Given the description of an element on the screen output the (x, y) to click on. 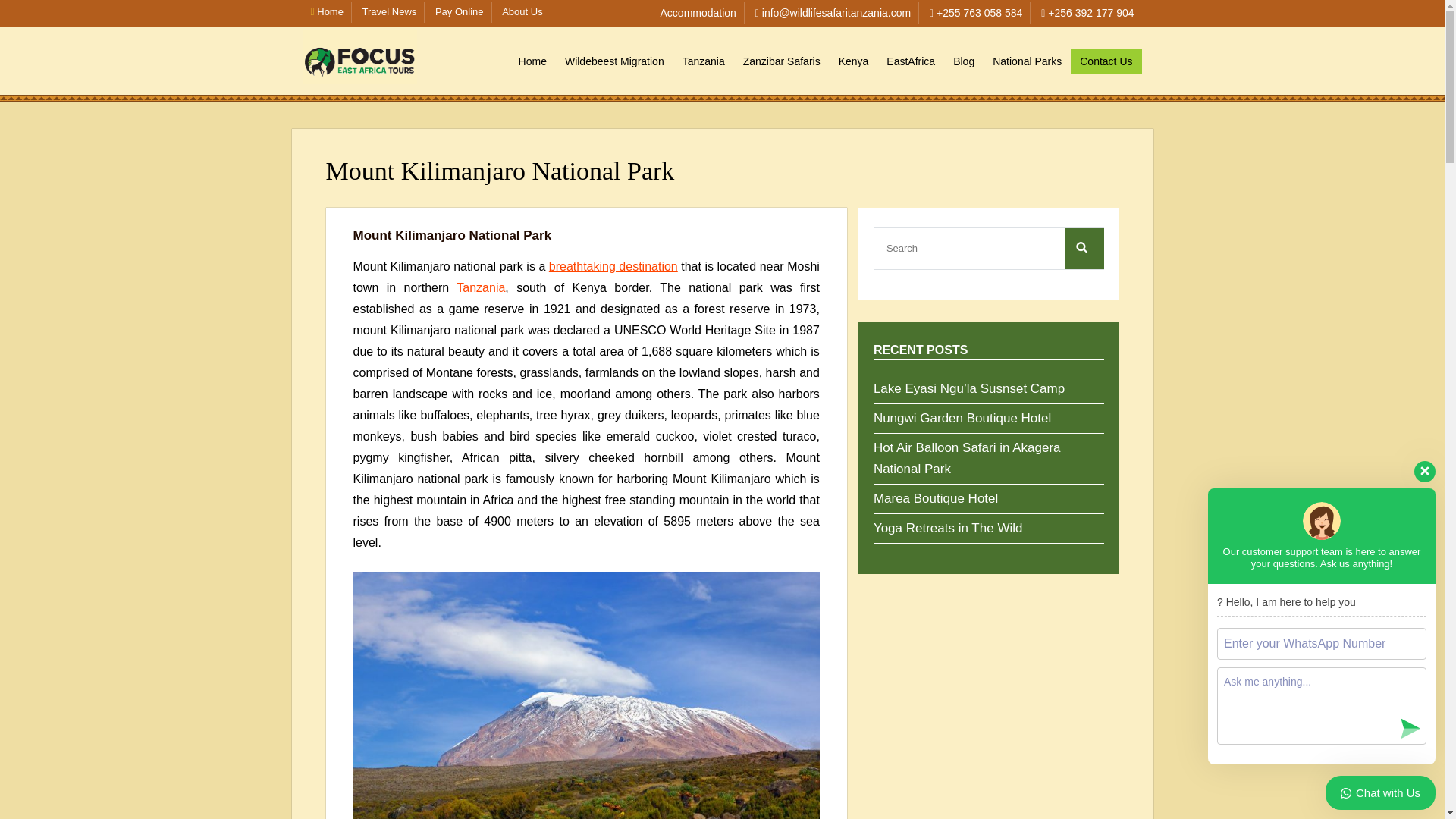
Marea Boutique Hotel (935, 497)
Hot Air Balloon Safari in Akagera National Park (967, 456)
Pay Online (459, 11)
Yoga Retreats in The Wild (948, 526)
National Parks (1027, 61)
Tanzania (702, 61)
Home (532, 61)
Search (1083, 248)
breathtaking destination (613, 266)
About Us (521, 11)
Search (1083, 248)
Travel News (389, 11)
Zanzibar Safaris (781, 61)
Blog (963, 61)
Wildebeest Migration (614, 61)
